Given the description of an element on the screen output the (x, y) to click on. 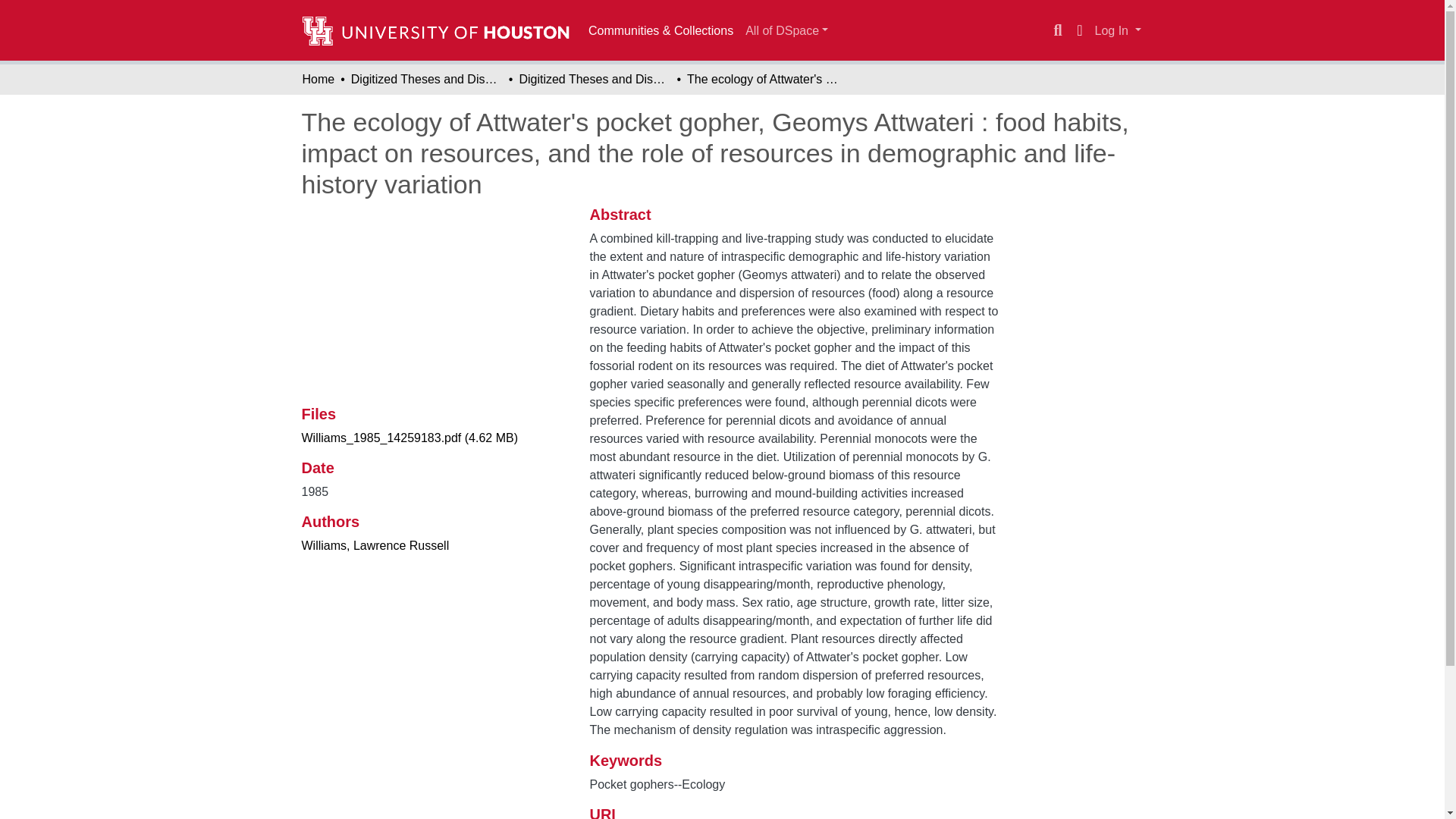
Williams, Lawrence Russell (375, 545)
Language switch (1079, 30)
Log In (1117, 30)
Home (317, 79)
All of DSpace (786, 30)
Search (1057, 30)
